Given the description of an element on the screen output the (x, y) to click on. 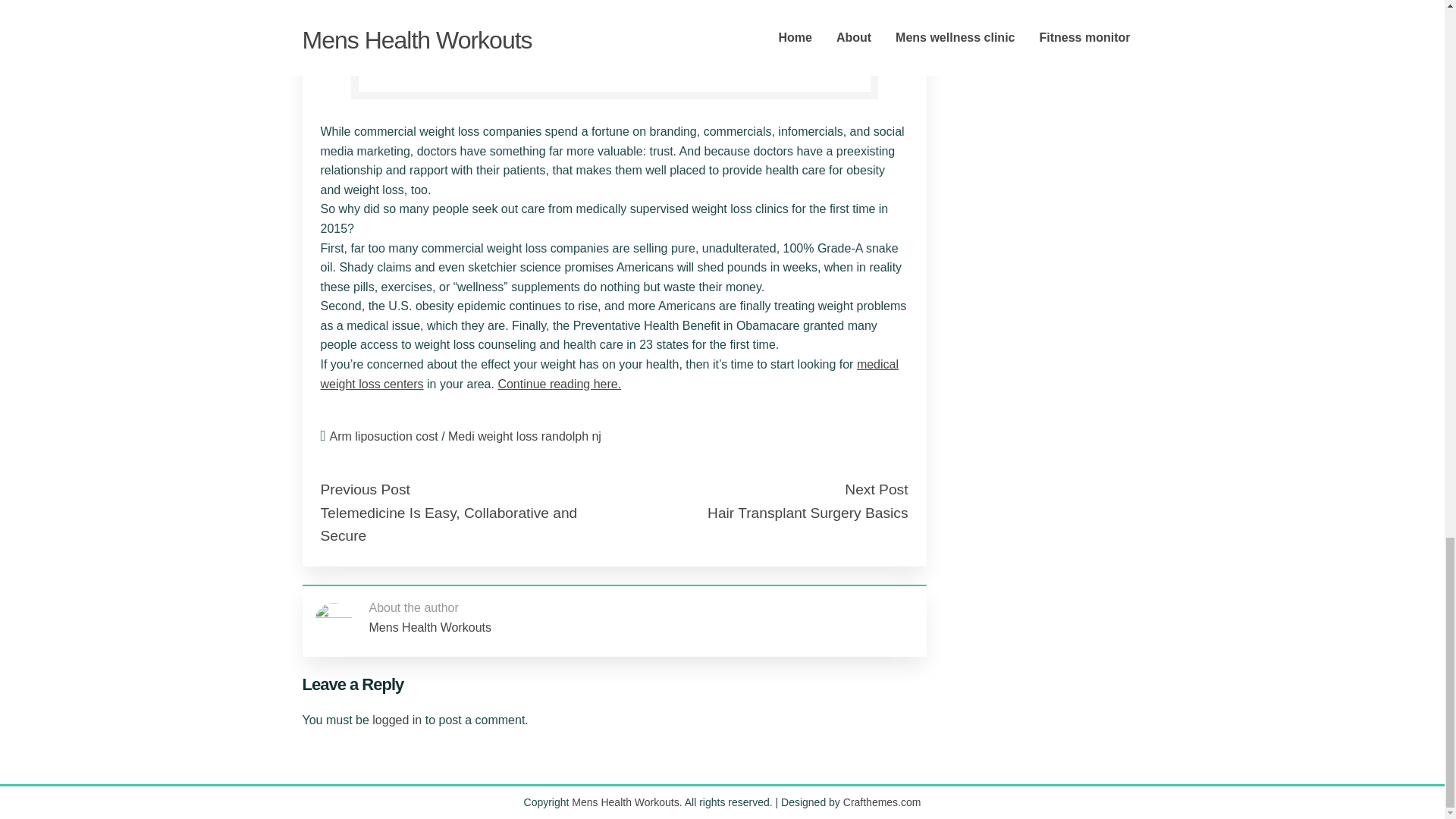
logged in (397, 719)
Crafthemes.com (882, 802)
Continue reading here. (559, 383)
Mens Health Workouts (625, 802)
Previous Post (364, 489)
Telemedicine Is Easy, Collaborative and Secure (448, 524)
Next Post (875, 489)
Medi weight loss randolph nj (524, 436)
medical weight loss centers (609, 373)
Related to the topic of Medical weight management (559, 383)
